Given the description of an element on the screen output the (x, y) to click on. 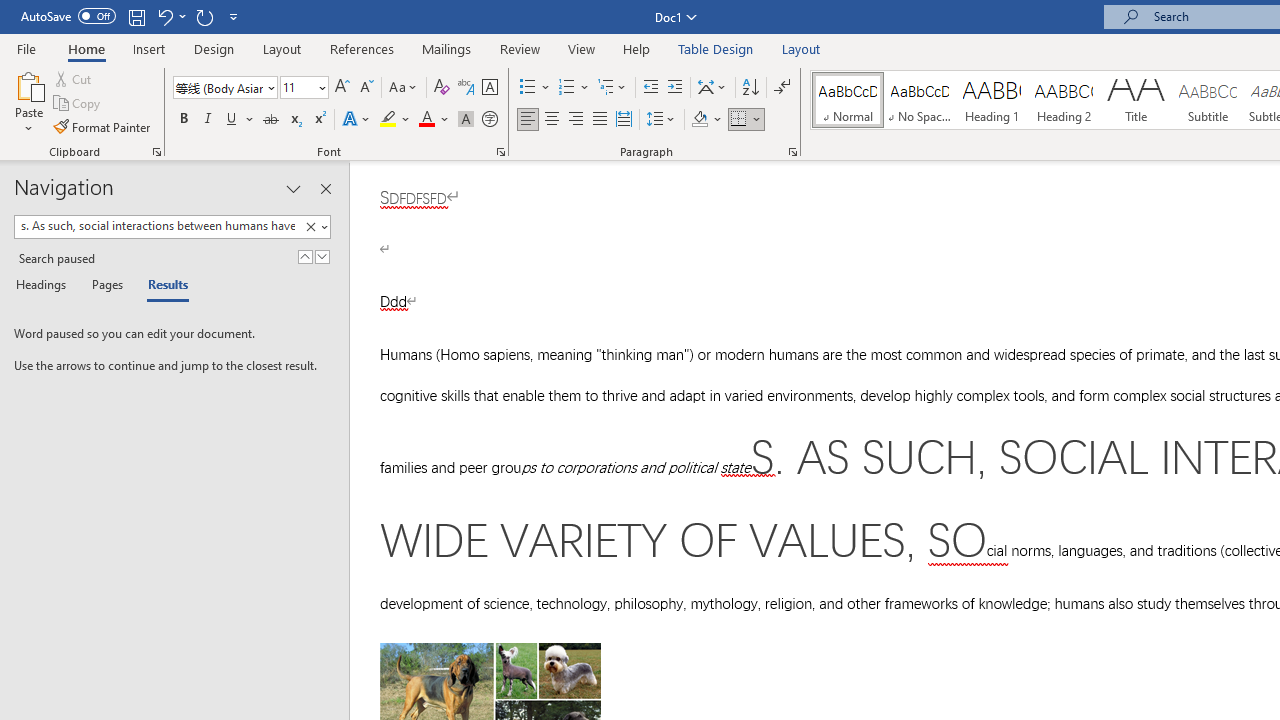
Copy (78, 103)
Line and Paragraph Spacing (661, 119)
Asian Layout (712, 87)
Clear (310, 227)
Repeat Style (204, 15)
Grow Font (342, 87)
Undo Style (170, 15)
Strikethrough (270, 119)
